Given the description of an element on the screen output the (x, y) to click on. 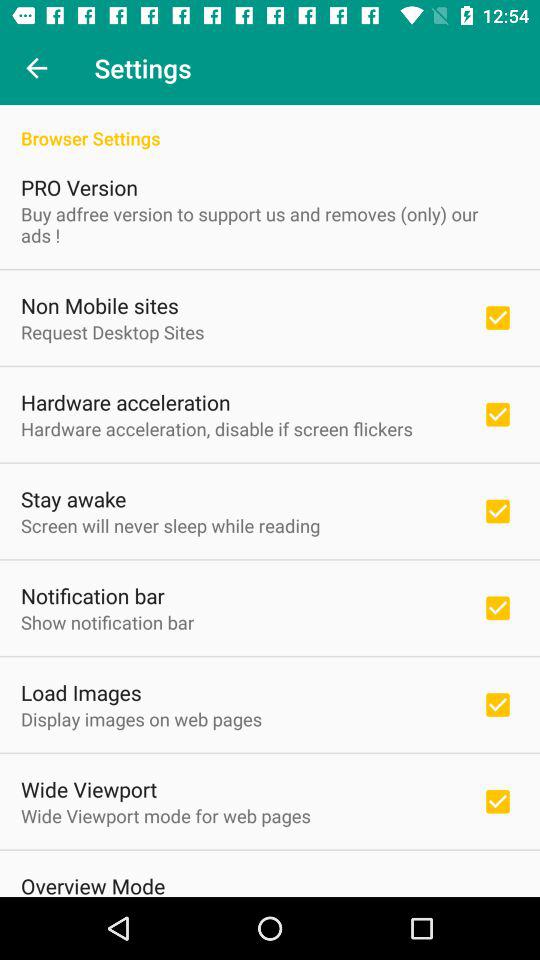
turn off icon below wide viewport mode item (93, 883)
